Given the description of an element on the screen output the (x, y) to click on. 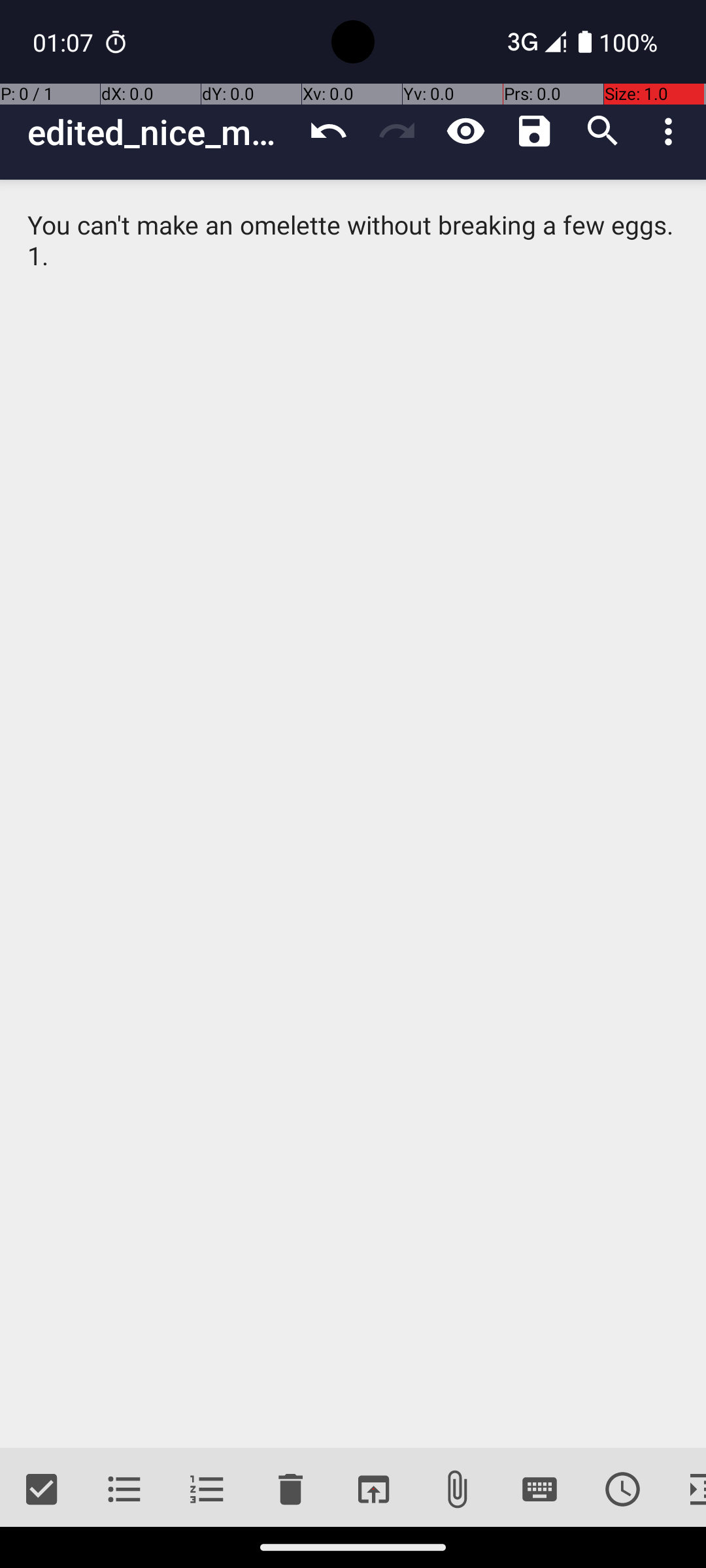
edited_nice_monkey Element type: android.widget.TextView (160, 131)
You can't make an omelette without breaking a few eggs.
 Element type: android.widget.EditText (353, 813)
Ordered list Element type: android.widget.ImageView (207, 1488)
Indent Element type: android.widget.ImageView (685, 1488)
01:07 Element type: android.widget.TextView (64, 41)
